Given the description of an element on the screen output the (x, y) to click on. 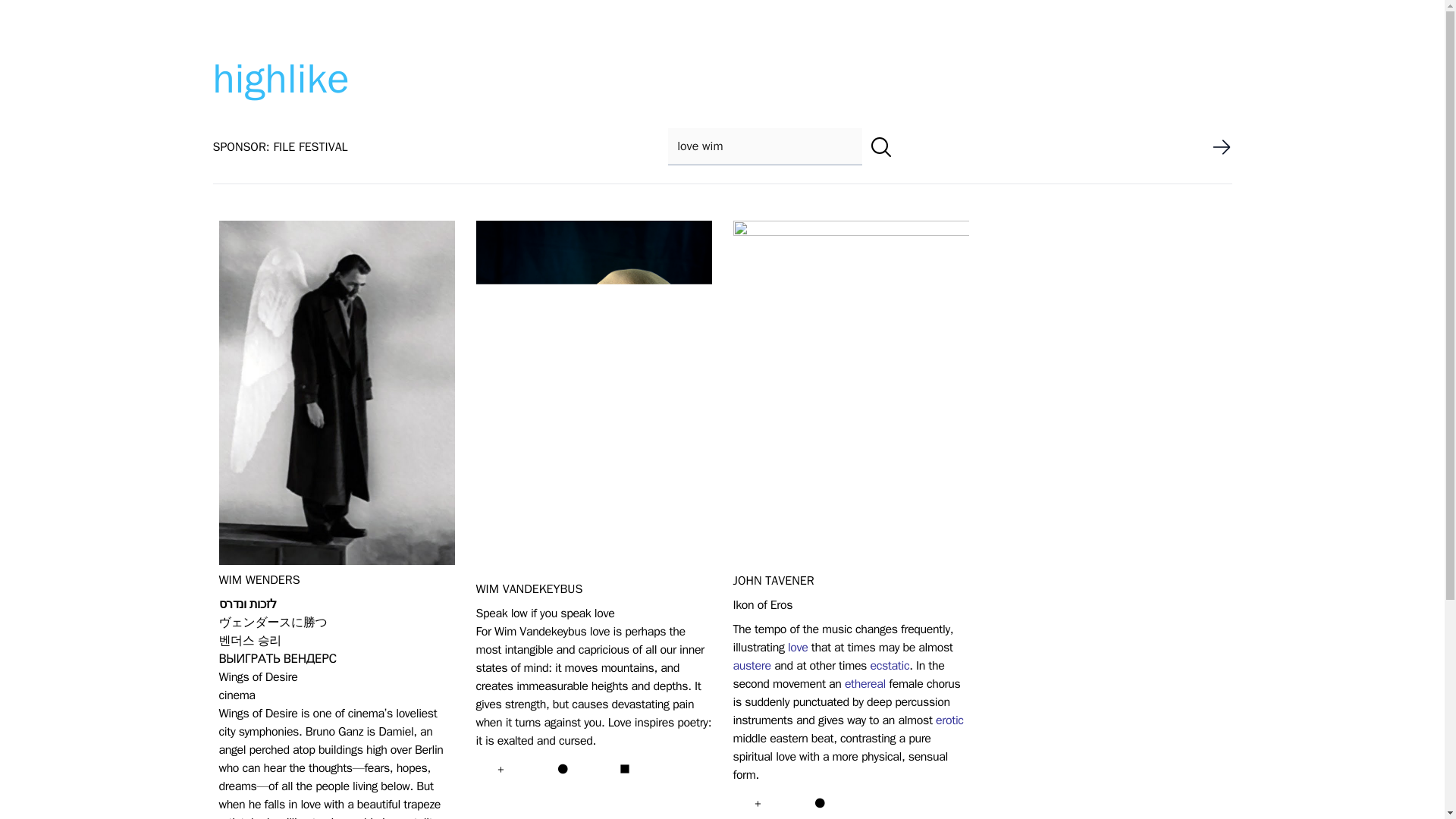
WIM WENDERS (258, 580)
Pesquisar (881, 146)
John Tavener (772, 580)
erotic (949, 720)
Wim Wenders (258, 580)
highlike (280, 78)
austere (751, 665)
SPONSOR: FILE FESTIVAL (279, 147)
ethereal (864, 683)
love (797, 647)
Wim Vandekeybus (529, 589)
JOHN TAVENER (772, 580)
love wim (764, 146)
WIM VANDEKEYBUS (529, 589)
ecstatic (888, 665)
